Given the description of an element on the screen output the (x, y) to click on. 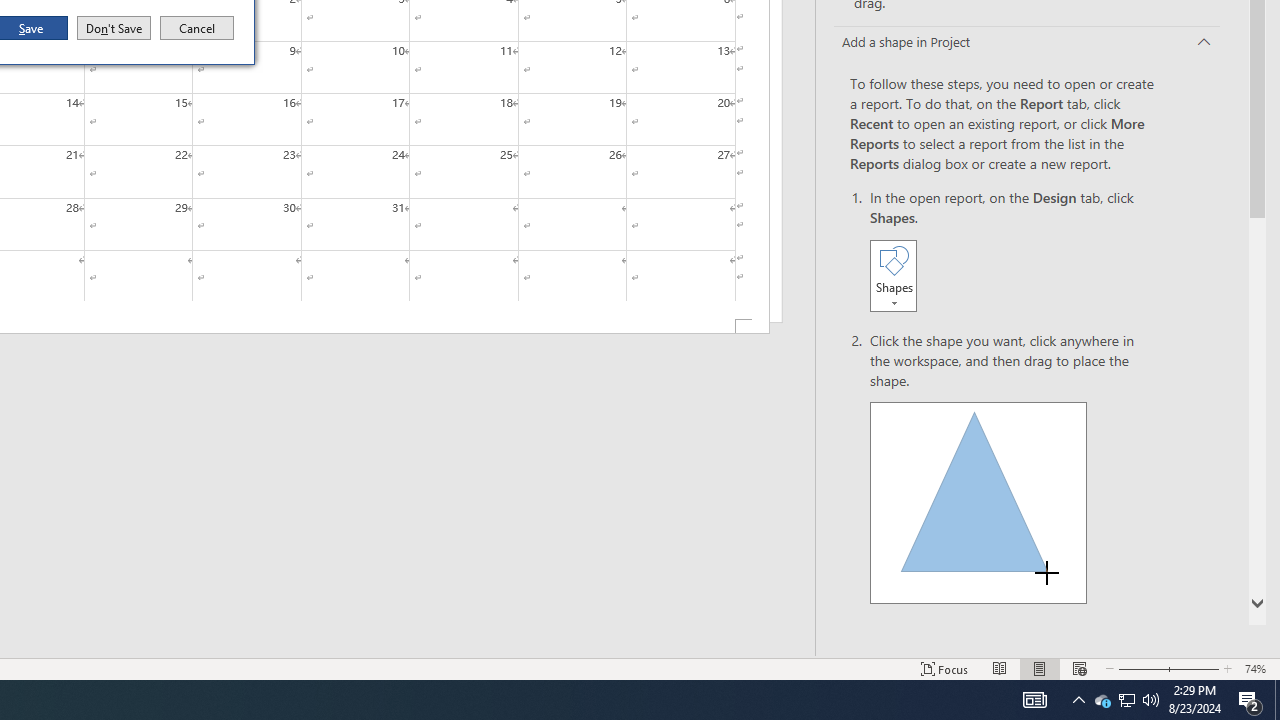
Drawing a shape (978, 502)
Show desktop (1277, 699)
Q2790: 100% (1151, 699)
User Promoted Notification Area (1126, 699)
Don't Save (1126, 699)
Add a shape in Project (113, 27)
